Given the description of an element on the screen output the (x, y) to click on. 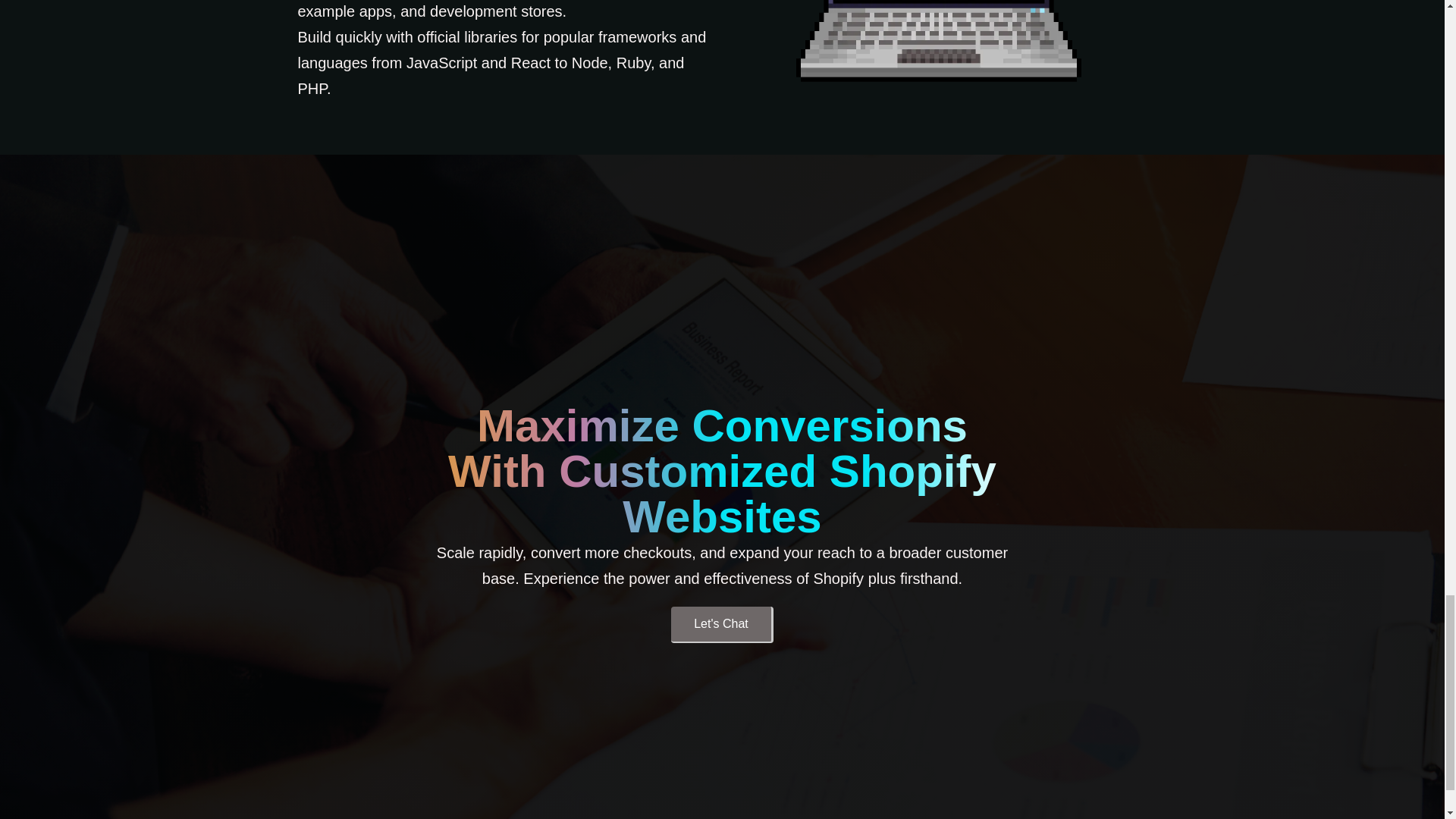
Let's Chat (722, 624)
